Given the description of an element on the screen output the (x, y) to click on. 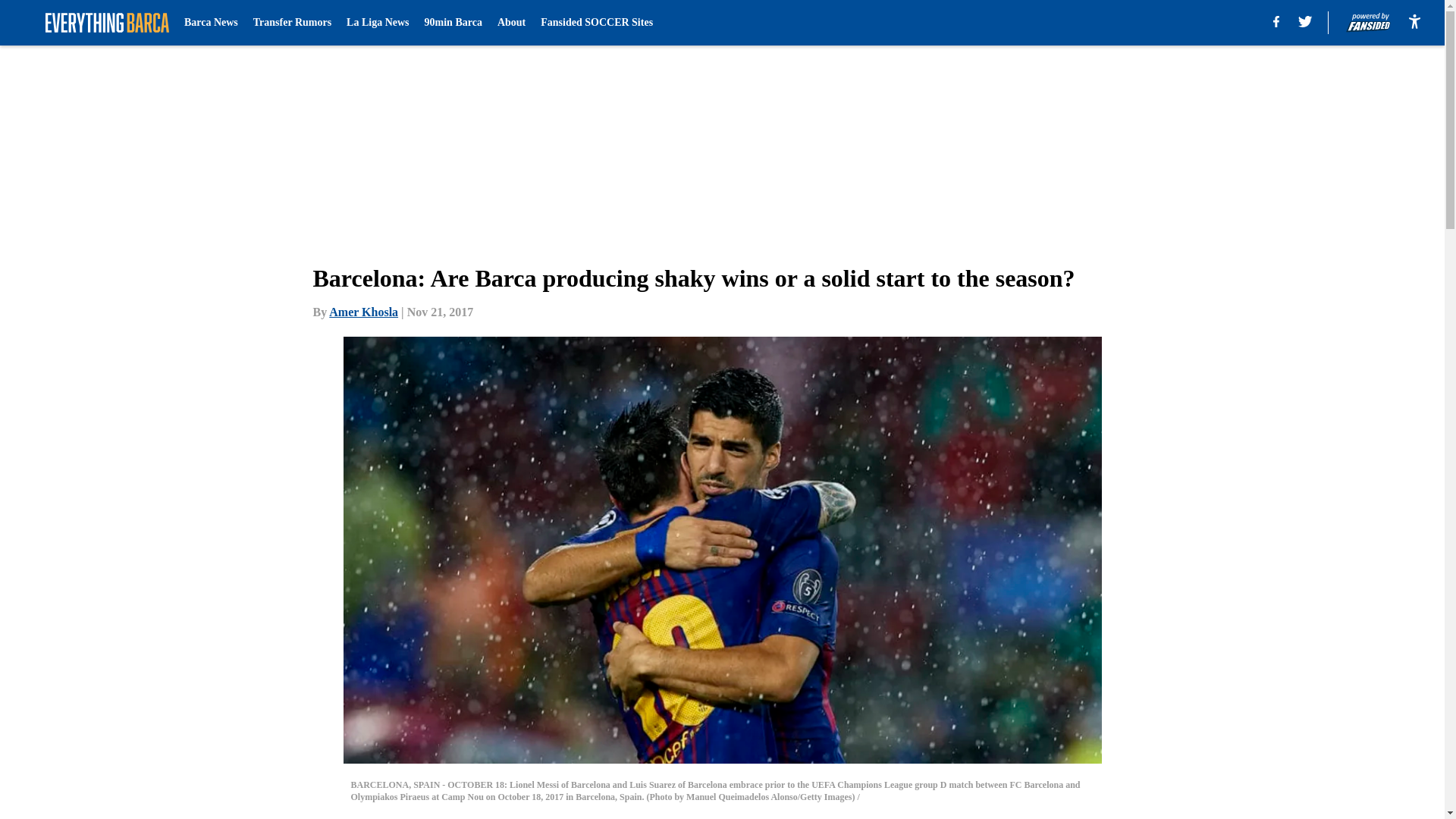
Barca News (211, 22)
Transfer Rumors (292, 22)
Amer Khosla (363, 311)
90min Barca (453, 22)
La Liga News (377, 22)
About (511, 22)
Fansided SOCCER Sites (596, 22)
